Given the description of an element on the screen output the (x, y) to click on. 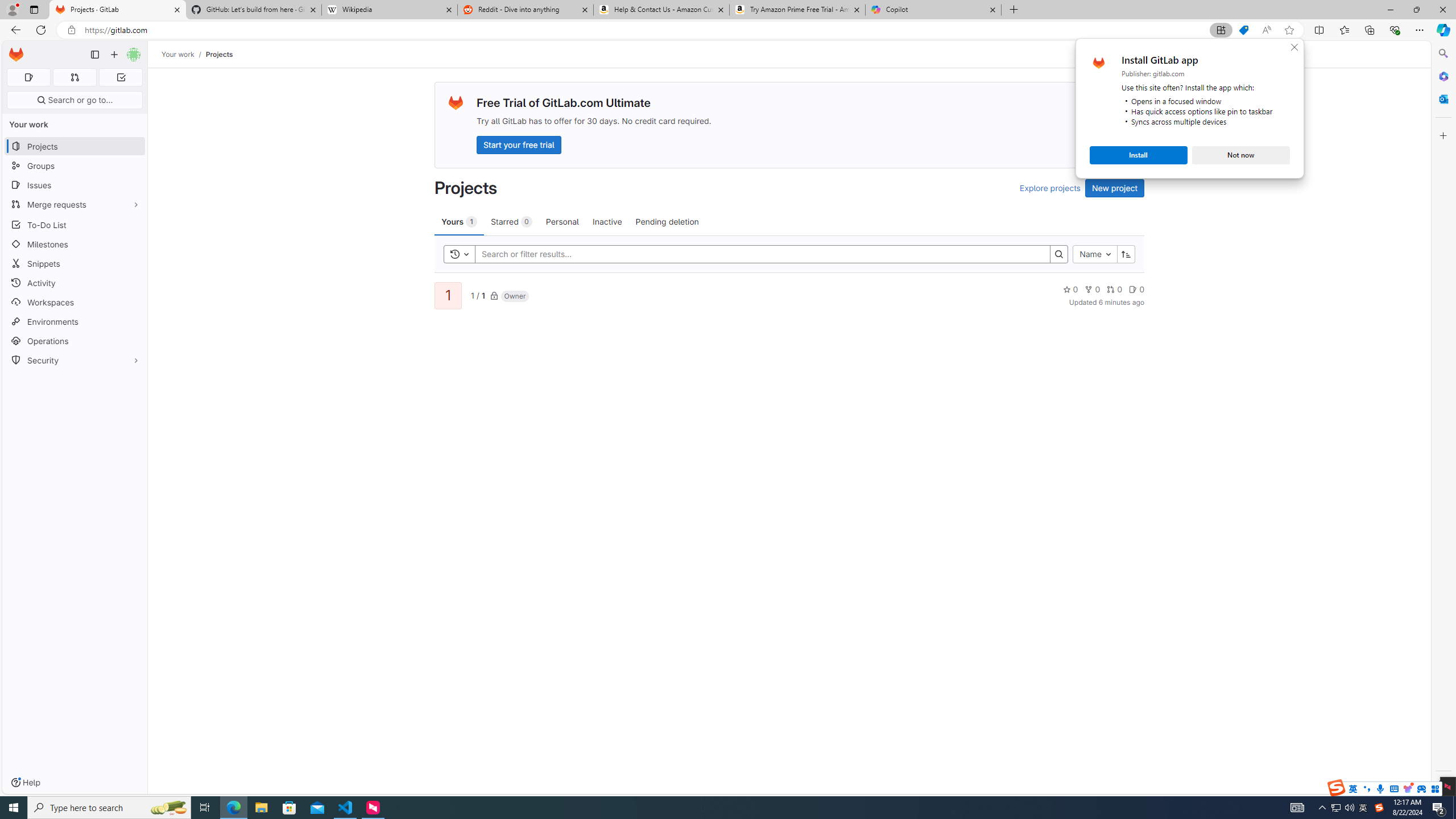
Install (1138, 154)
AutomationID: 4105 (1297, 807)
Start (13, 807)
Visual Studio Code - 1 running window (345, 807)
Action Center, 2 new notifications (1439, 807)
Search highlights icon opens search home window (167, 807)
Show desktop (1454, 807)
Notification Chevron (1322, 807)
Microsoft Edge - 1 running window (233, 807)
Running applications (707, 807)
File Explorer (261, 807)
